Given the description of an element on the screen output the (x, y) to click on. 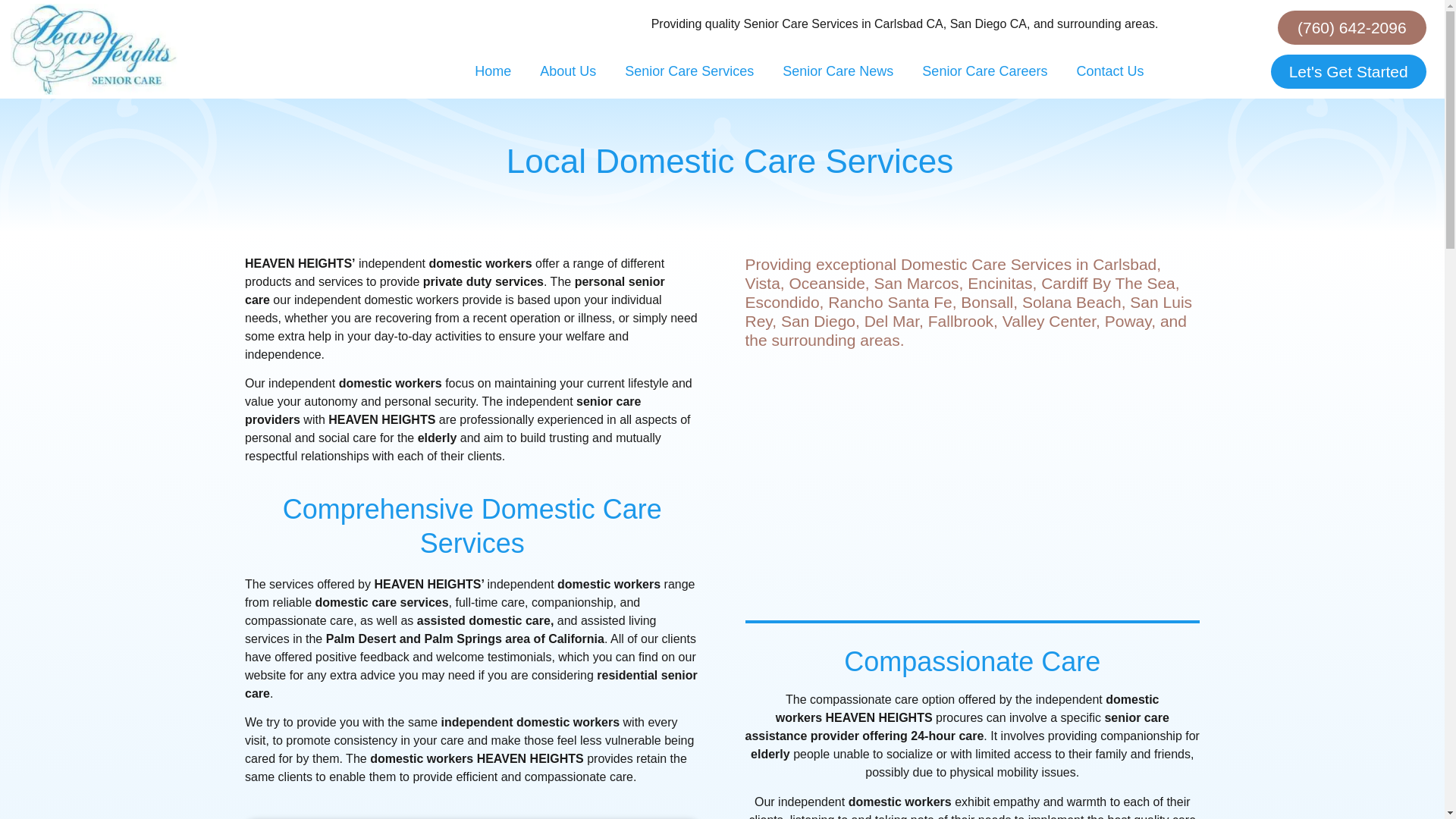
Contact Us (1109, 70)
Senior Care News (837, 70)
Let's Get Started (1348, 71)
Home (492, 70)
About Us (567, 70)
Senior Care Services (689, 70)
Senior Care Careers (984, 70)
